Given the description of an element on the screen output the (x, y) to click on. 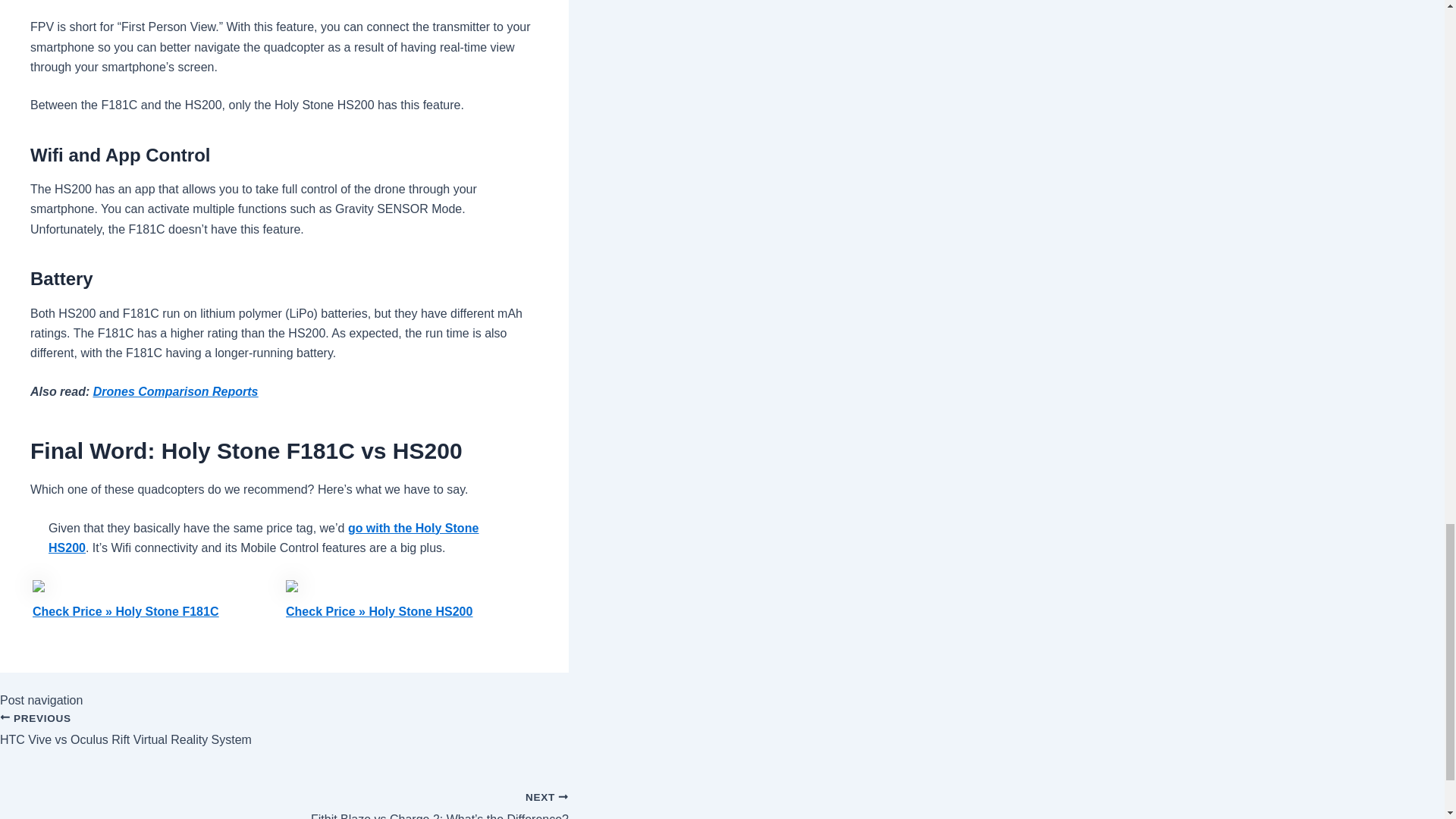
HTC Vive vs Oculus Rift Virtual Reality System (284, 738)
Drones Comparison Reports (176, 391)
go with the Holy Stone HS200 (263, 537)
